Given the description of an element on the screen output the (x, y) to click on. 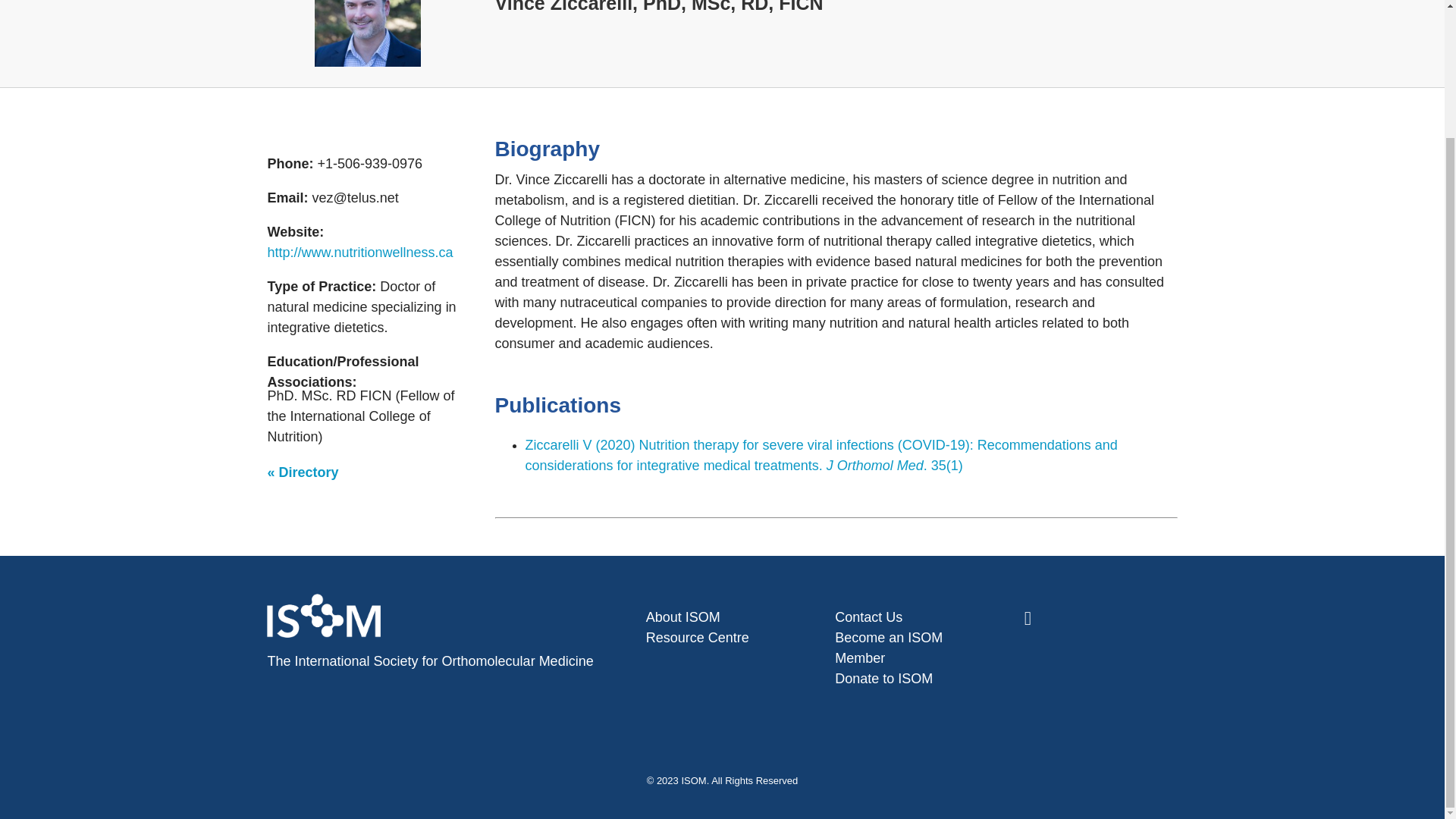
ISOM-logo-400 (323, 615)
